Given the description of an element on the screen output the (x, y) to click on. 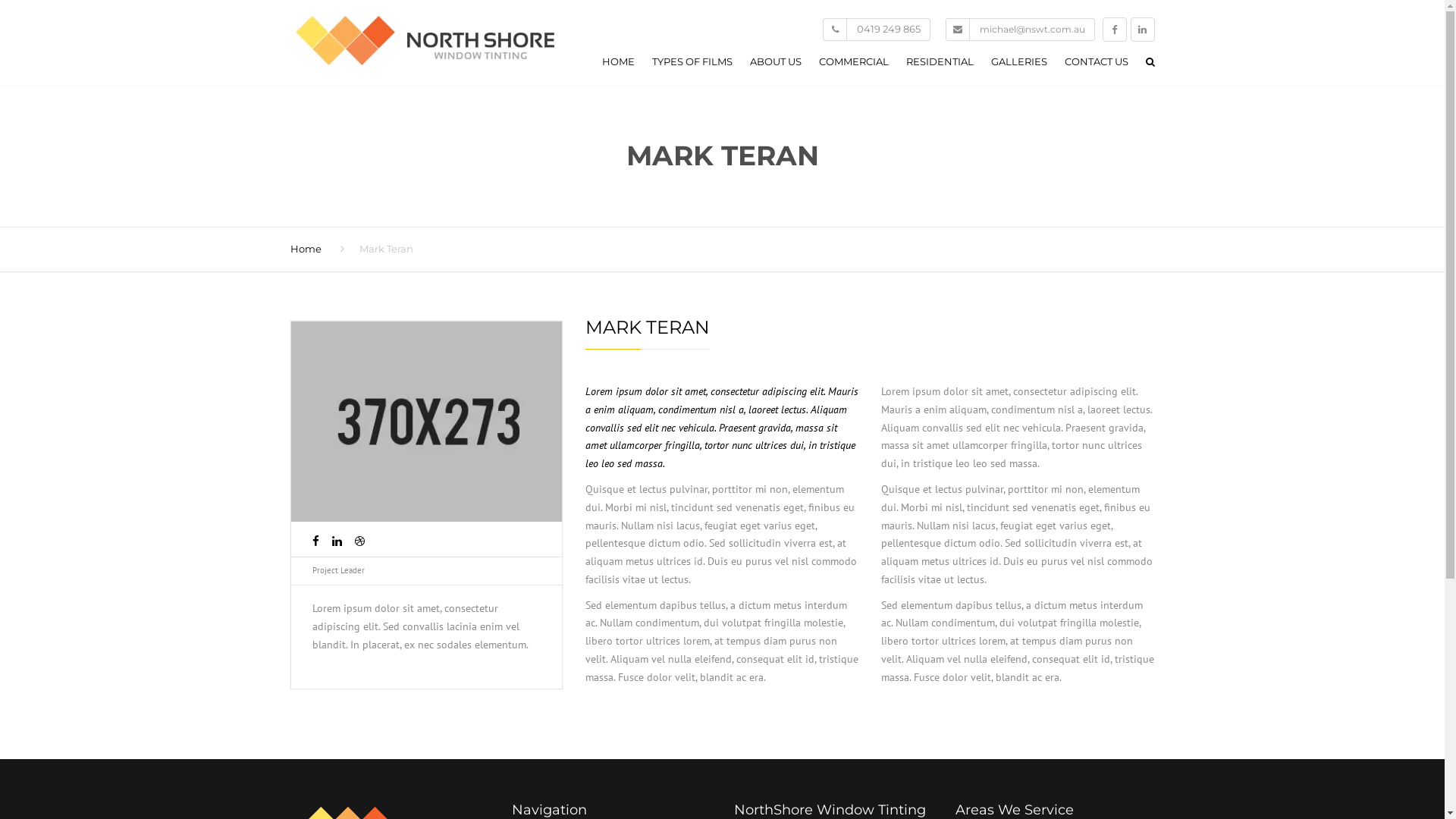
HOME Element type: text (618, 65)
TYPES OF FILMS Element type: text (692, 65)
0419 249 865 Element type: text (888, 28)
GALLERIES Element type: text (1018, 65)
ABOUT US Element type: text (774, 65)
CONTACT US Element type: text (1096, 65)
Home Element type: text (304, 248)
RESIDENTIAL Element type: text (938, 65)
COMMERCIAL Element type: text (853, 65)
